Given the description of an element on the screen output the (x, y) to click on. 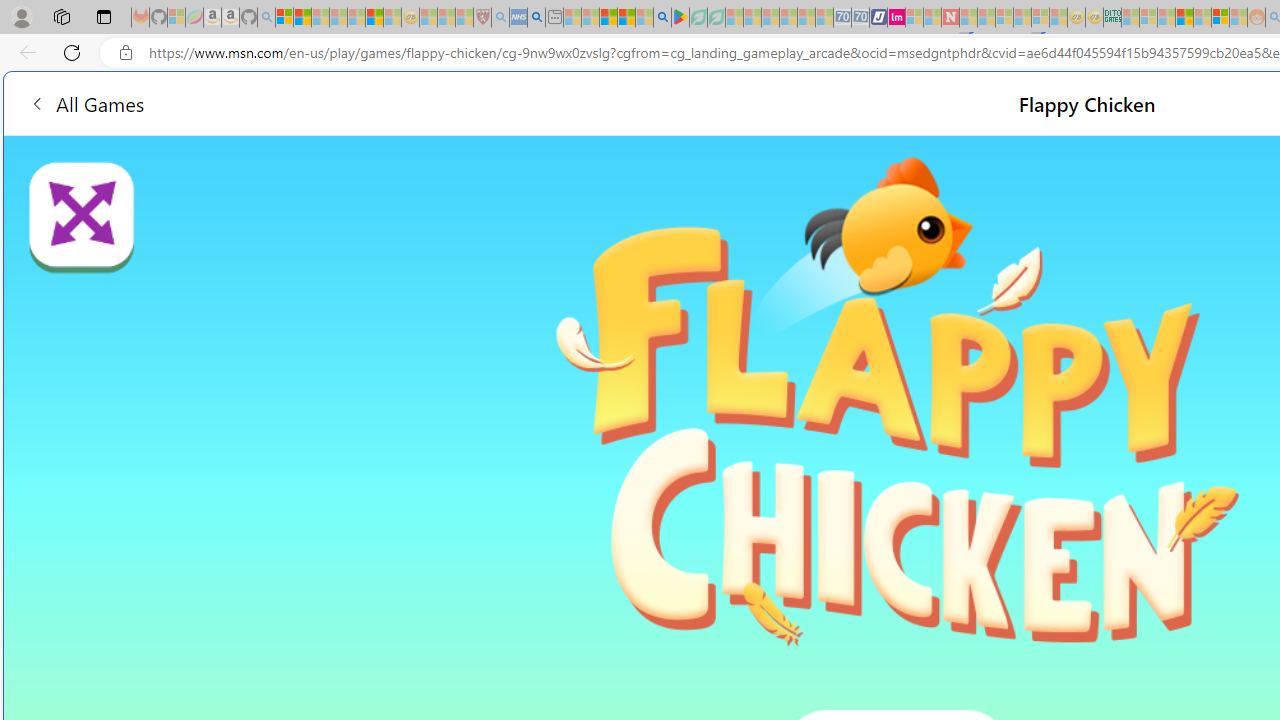
Expert Portfolios (1184, 17)
Jobs - lastminute.com Investor Portal (896, 17)
